Given the description of an element on the screen output the (x, y) to click on. 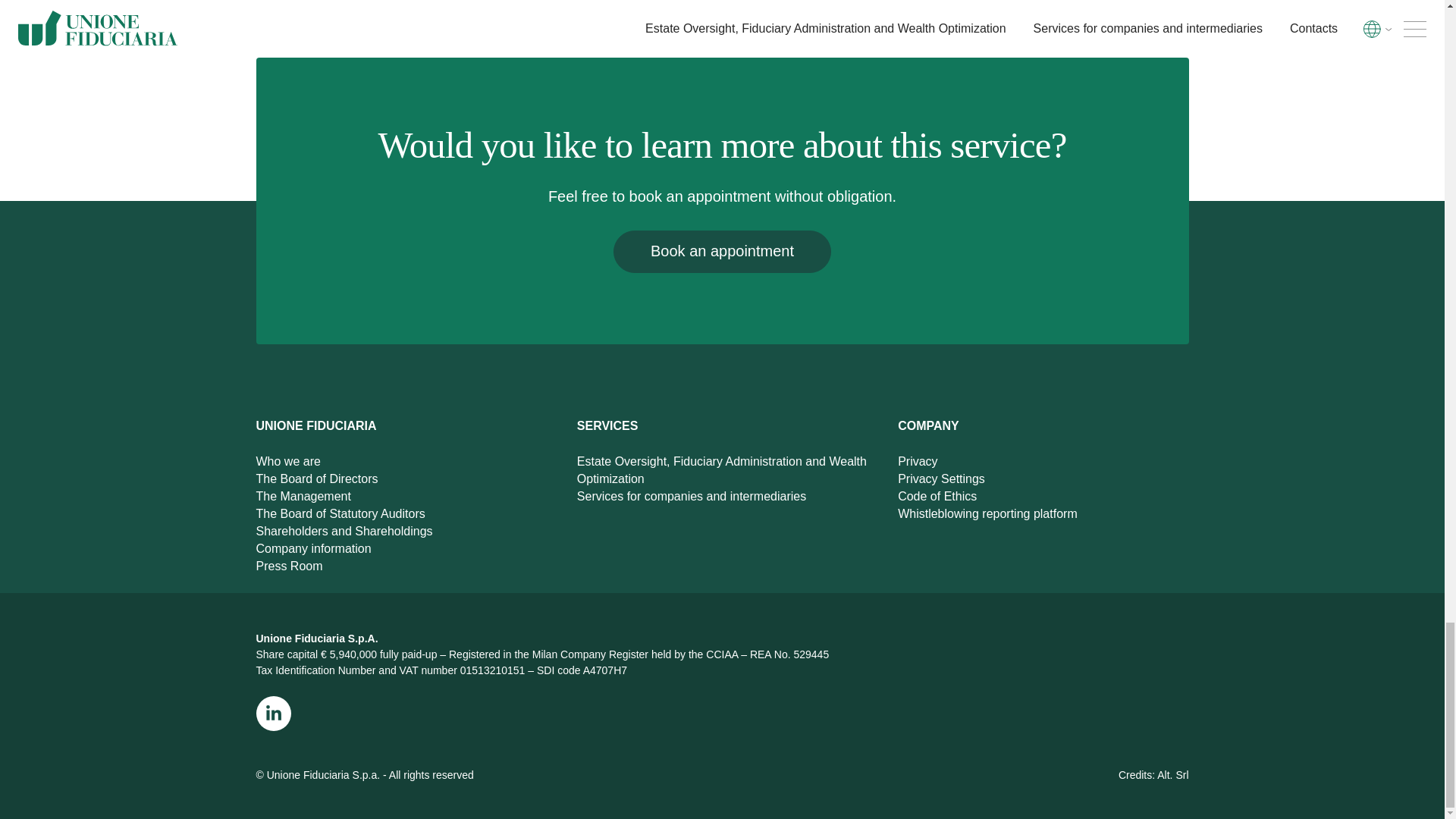
Shareholders and Shareholdings (344, 538)
Press Room (289, 573)
Book an appointment (721, 251)
Who we are (288, 469)
The Board of Statutory Auditors (340, 520)
The Board of Directors (317, 486)
Company information (313, 556)
The Management (303, 503)
